Given the description of an element on the screen output the (x, y) to click on. 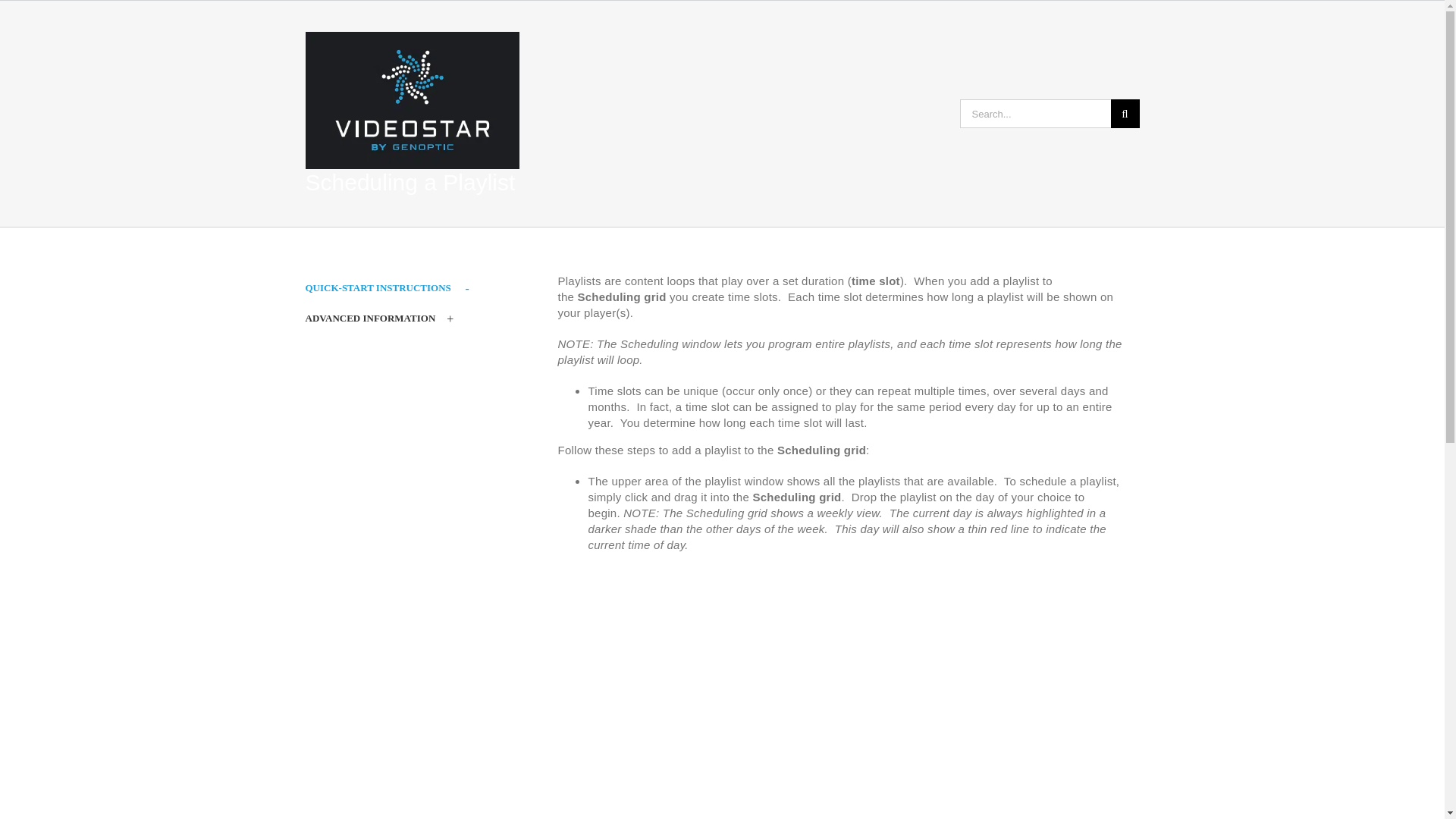
ADVANCED INFORMATION (400, 318)
QUICK-START INSTRUCTIONS (400, 288)
